Given the description of an element on the screen output the (x, y) to click on. 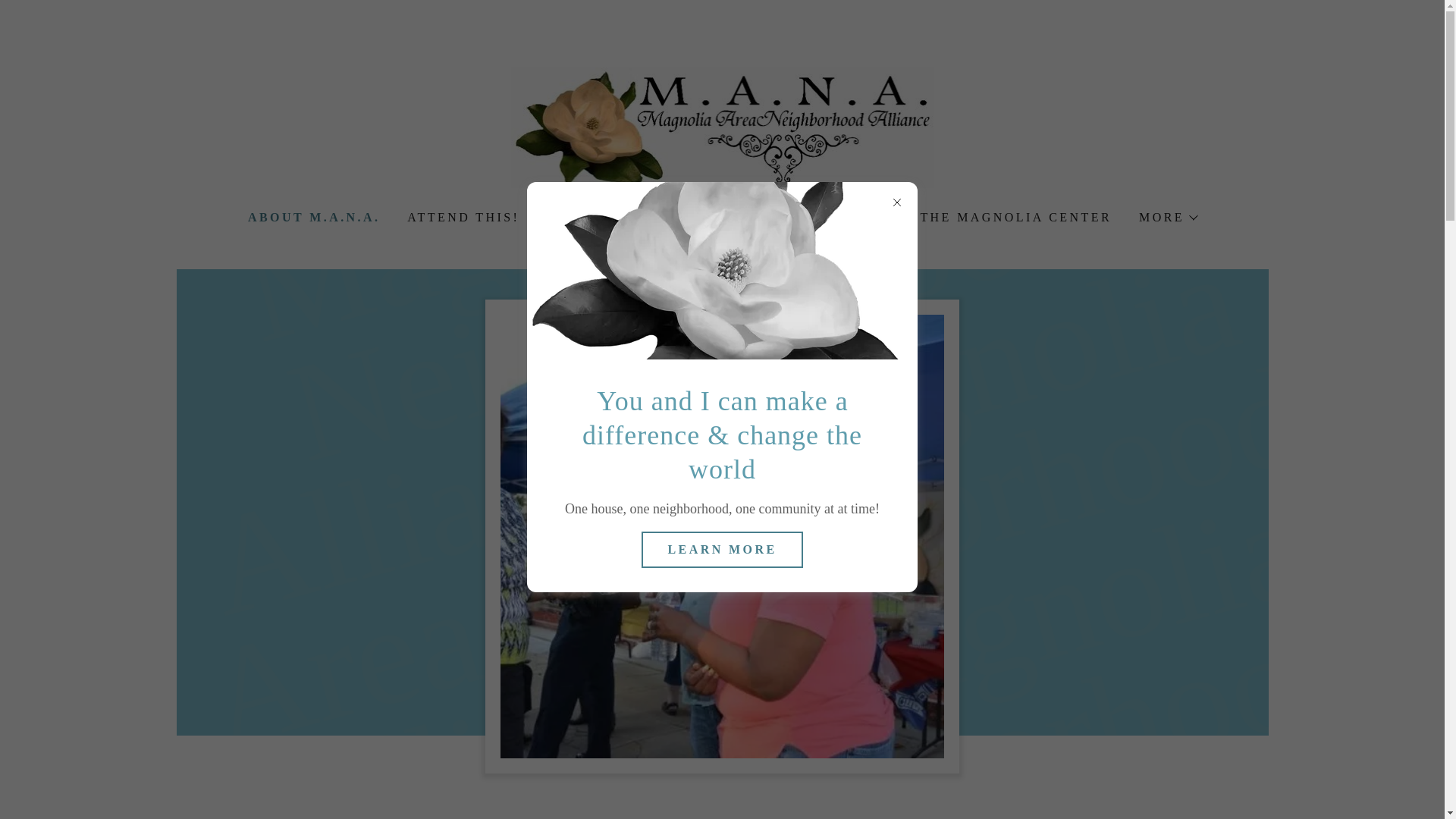
Magnolia Area Neighborhood Alliance (722, 126)
THE MAGNOLIA CENTER (1014, 216)
MORE (1167, 216)
LEARN MORE (722, 548)
ATTEND THIS! (461, 216)
NEWS YOU CAN USE (810, 216)
USEFUL CITY LINKS (624, 216)
ABOUT M.A.N.A. (312, 217)
